Given the description of an element on the screen output the (x, y) to click on. 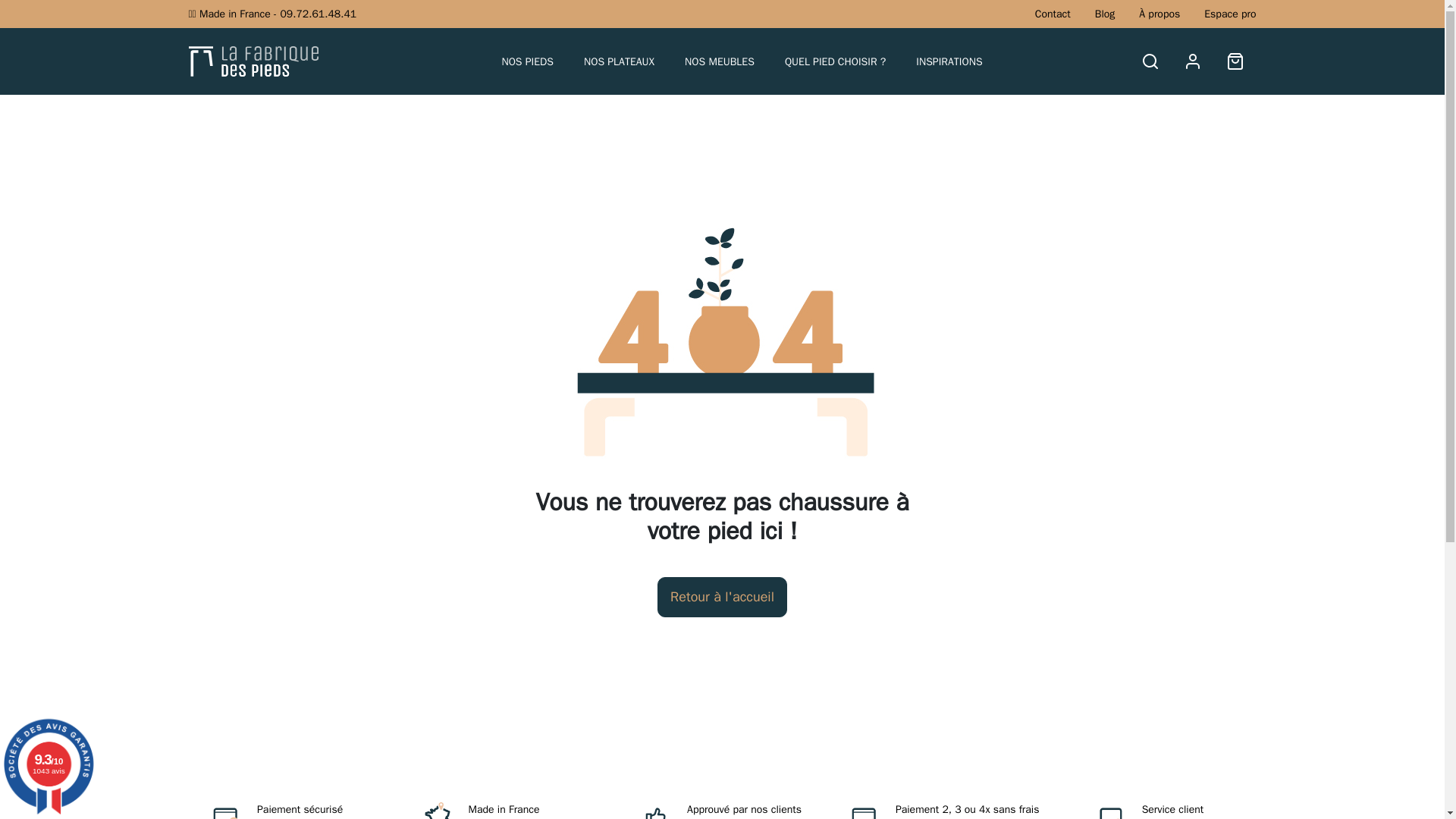
Contact (1052, 13)
Identifiez-vous (1191, 61)
Blog (1104, 13)
Espace pro (1229, 13)
